Given the description of an element on the screen output the (x, y) to click on. 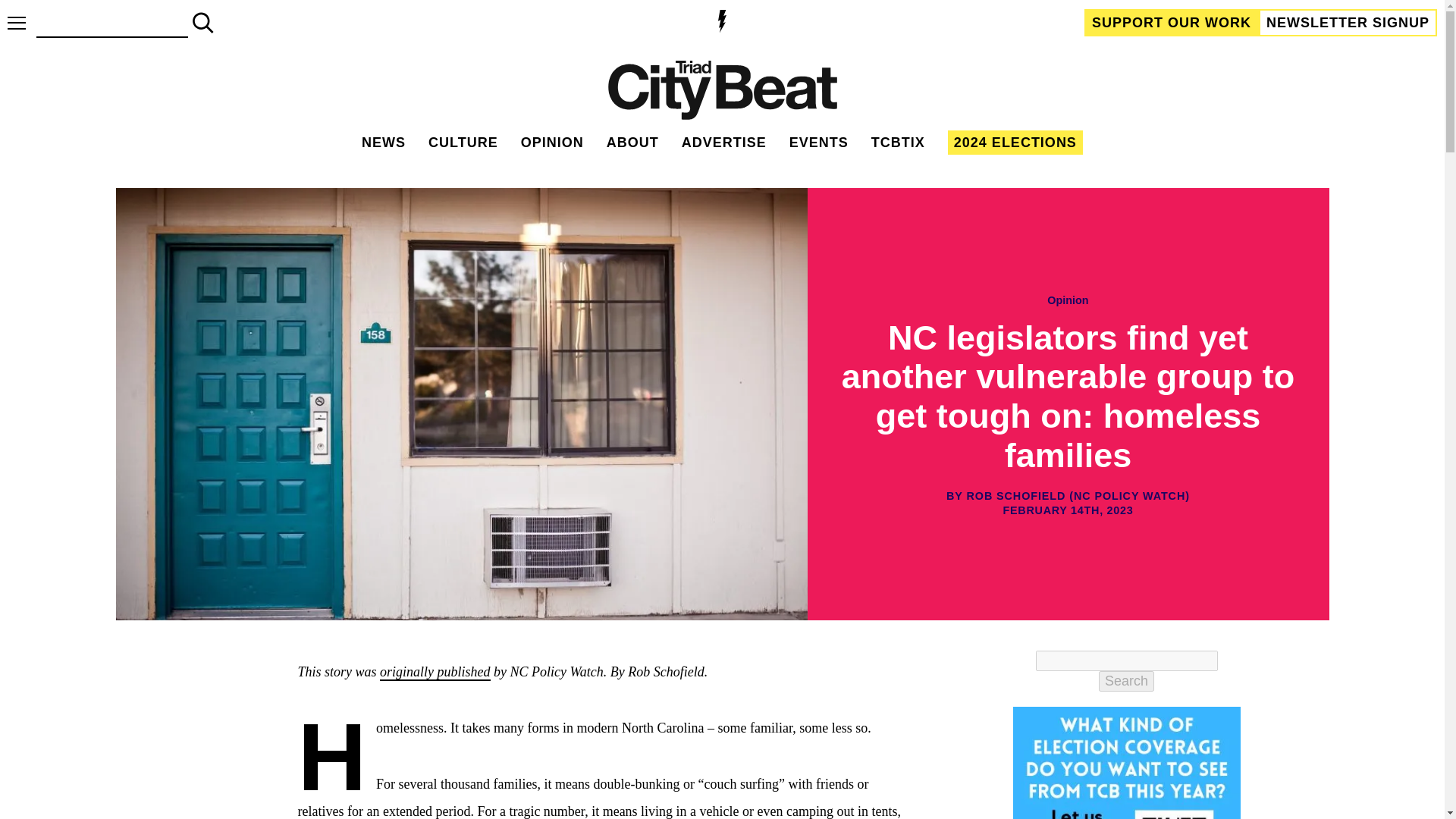
OPINION (552, 142)
ADVERTISE (724, 142)
TCBTIX (897, 142)
CULTURE (462, 142)
SUPPORT OUR WORK (1171, 22)
NEWSLETTER SIGNUP (1348, 22)
Search (1126, 680)
ABOUT (633, 142)
originally published (435, 672)
NEWS (383, 142)
